Given the description of an element on the screen output the (x, y) to click on. 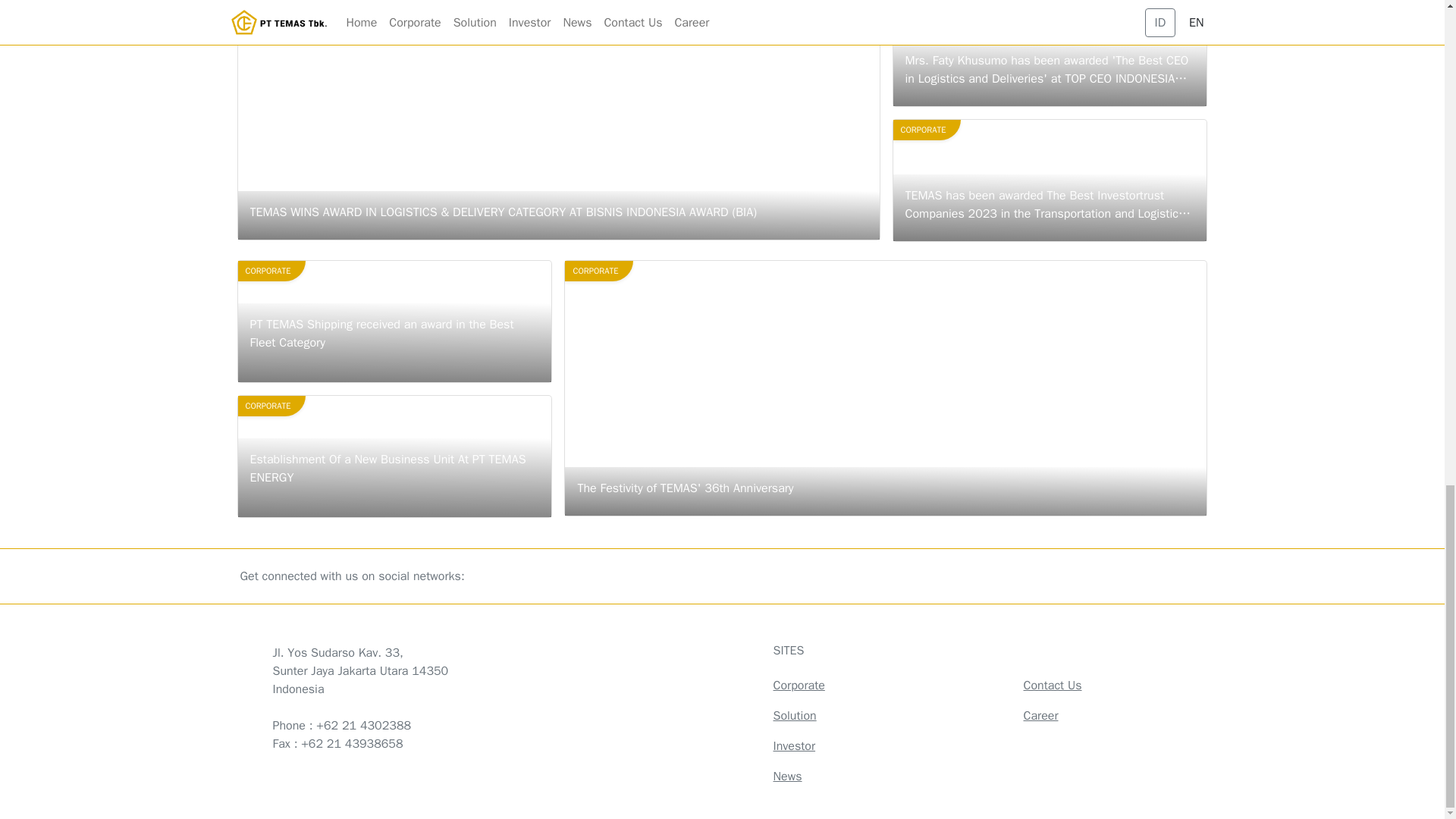
Career (1040, 715)
Investor (794, 745)
News (787, 776)
Solution (794, 715)
Contact Us (799, 685)
